Given the description of an element on the screen output the (x, y) to click on. 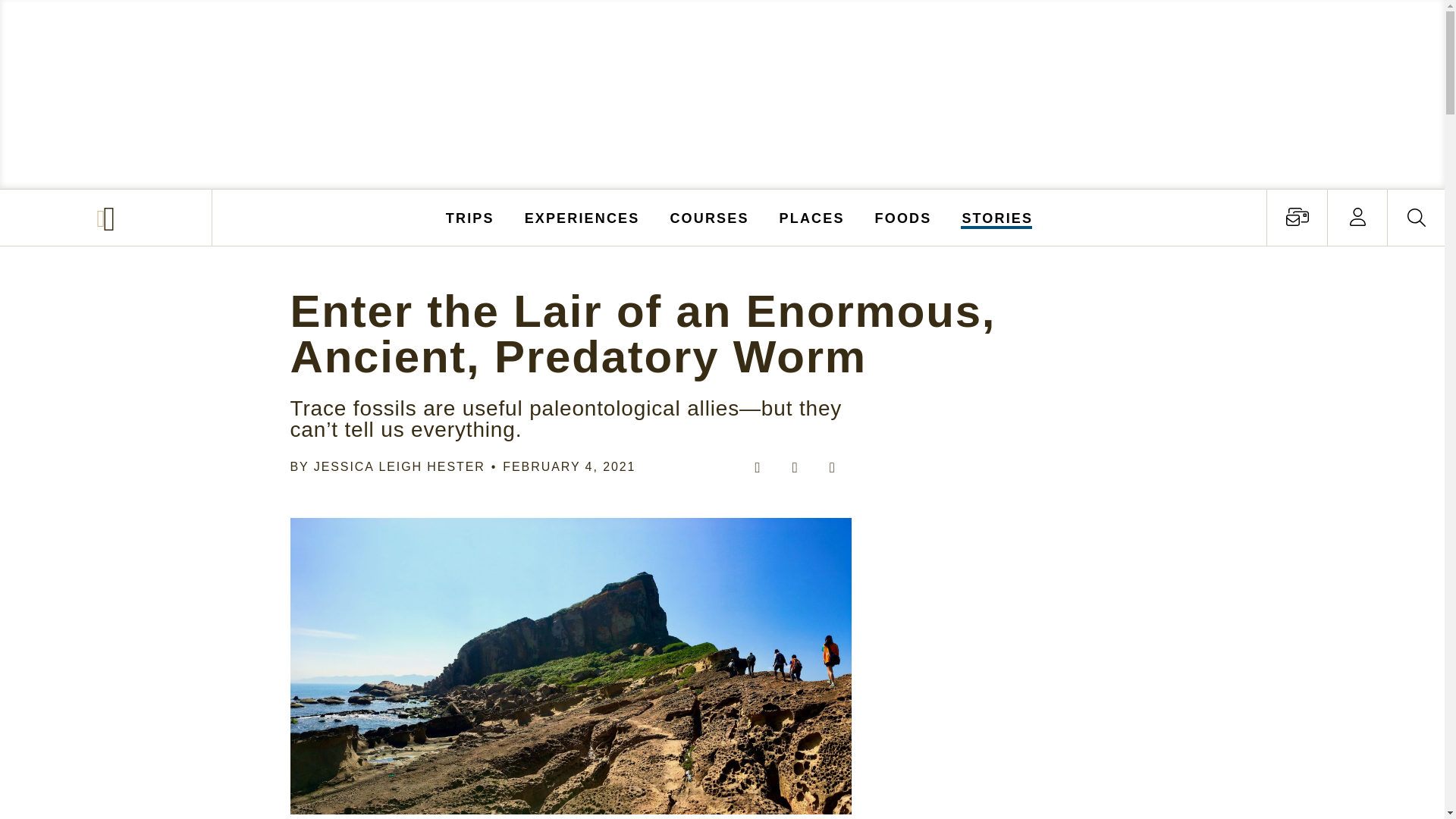
PLACES (812, 217)
COURSES (707, 217)
EXPERIENCES (582, 217)
TRIPS (469, 217)
